Given the description of an element on the screen output the (x, y) to click on. 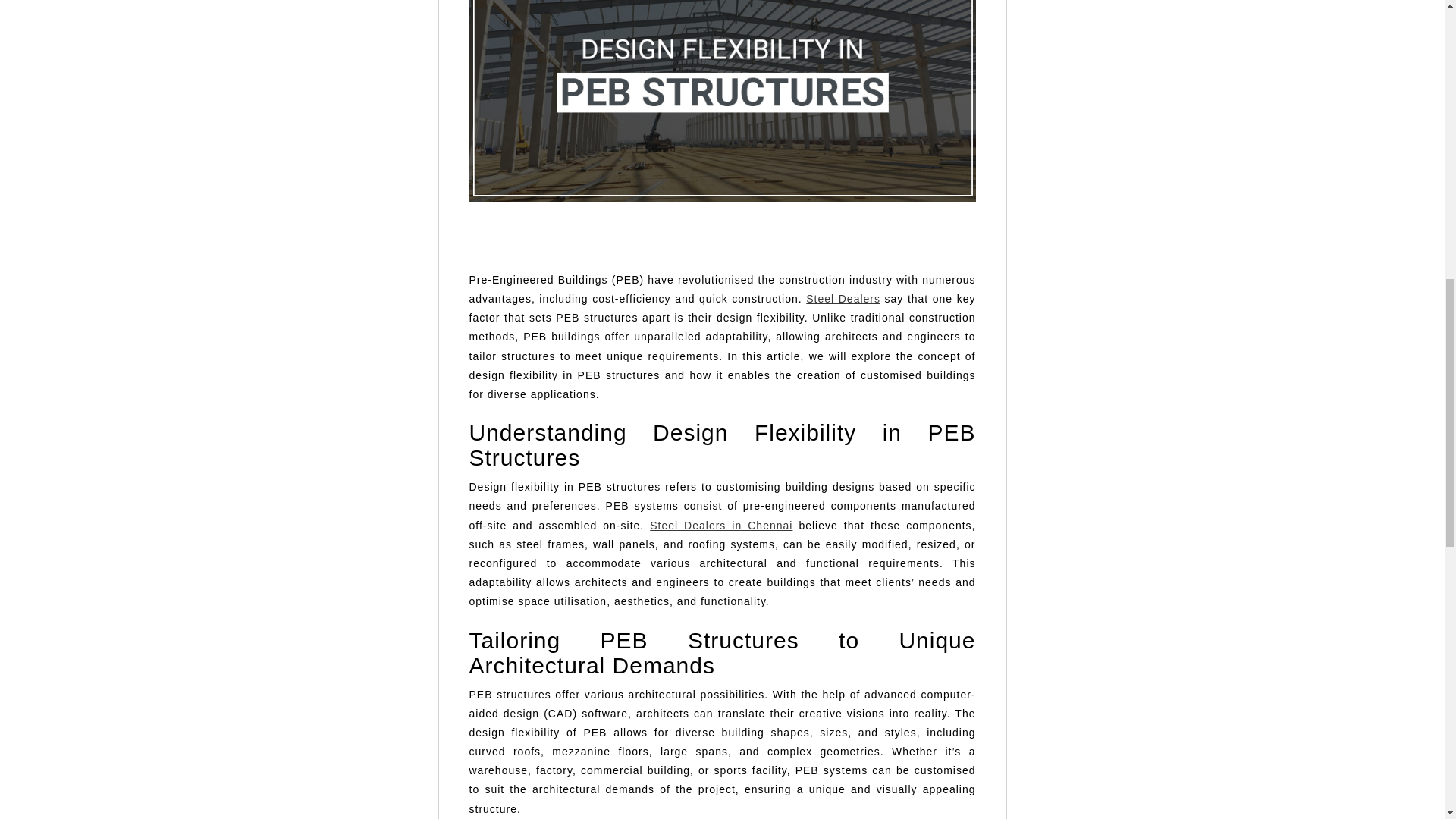
Steel Dealers (843, 298)
Steel Dealers in Chennai (720, 525)
